Given the description of an element on the screen output the (x, y) to click on. 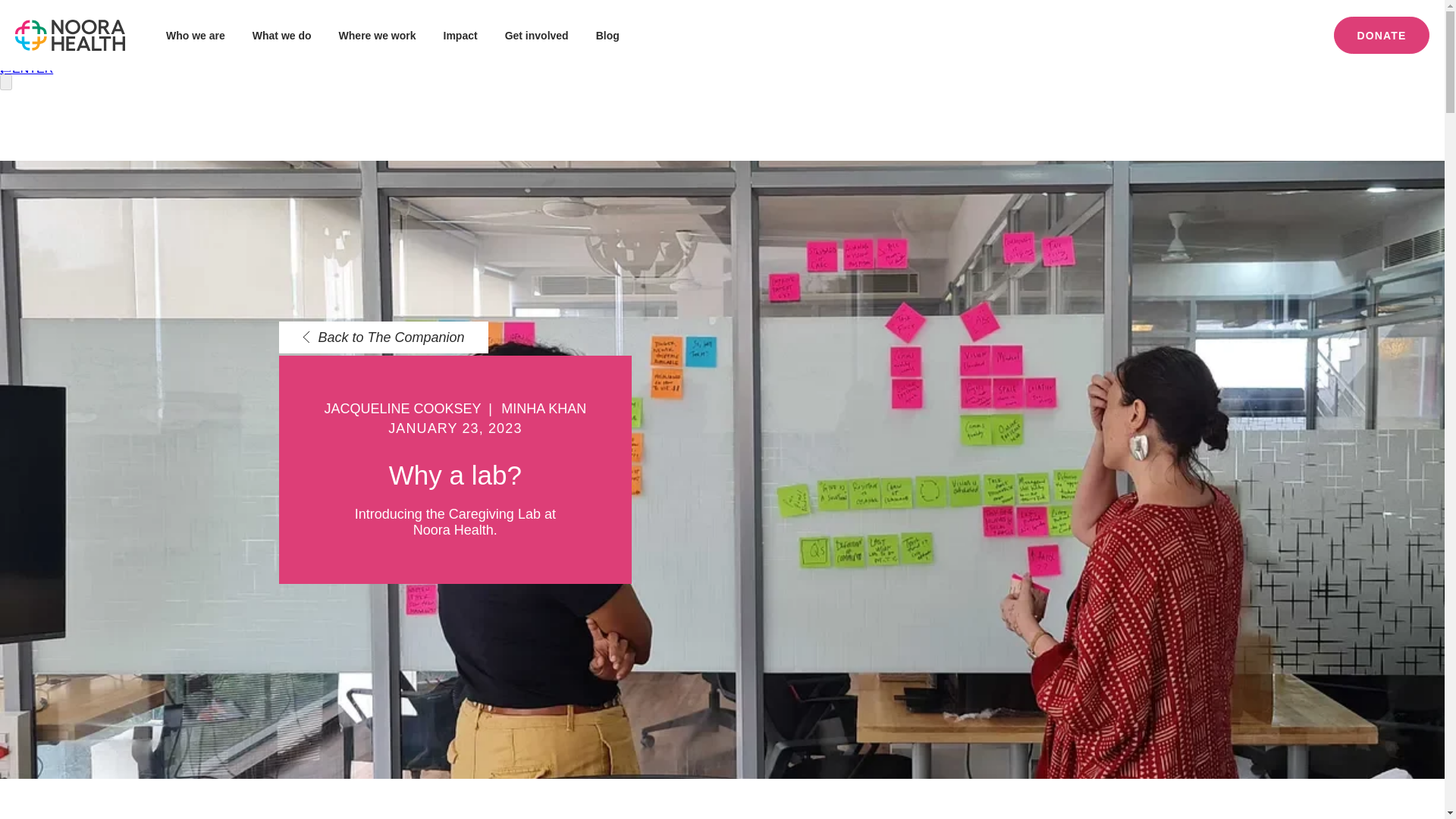
Impact (459, 34)
Impact (459, 34)
Who we are (195, 34)
What we do (281, 34)
Blog (607, 34)
Where we work (377, 34)
Where we work (377, 34)
Who we are (195, 34)
What we do (281, 34)
Get involved (537, 34)
